Given the description of an element on the screen output the (x, y) to click on. 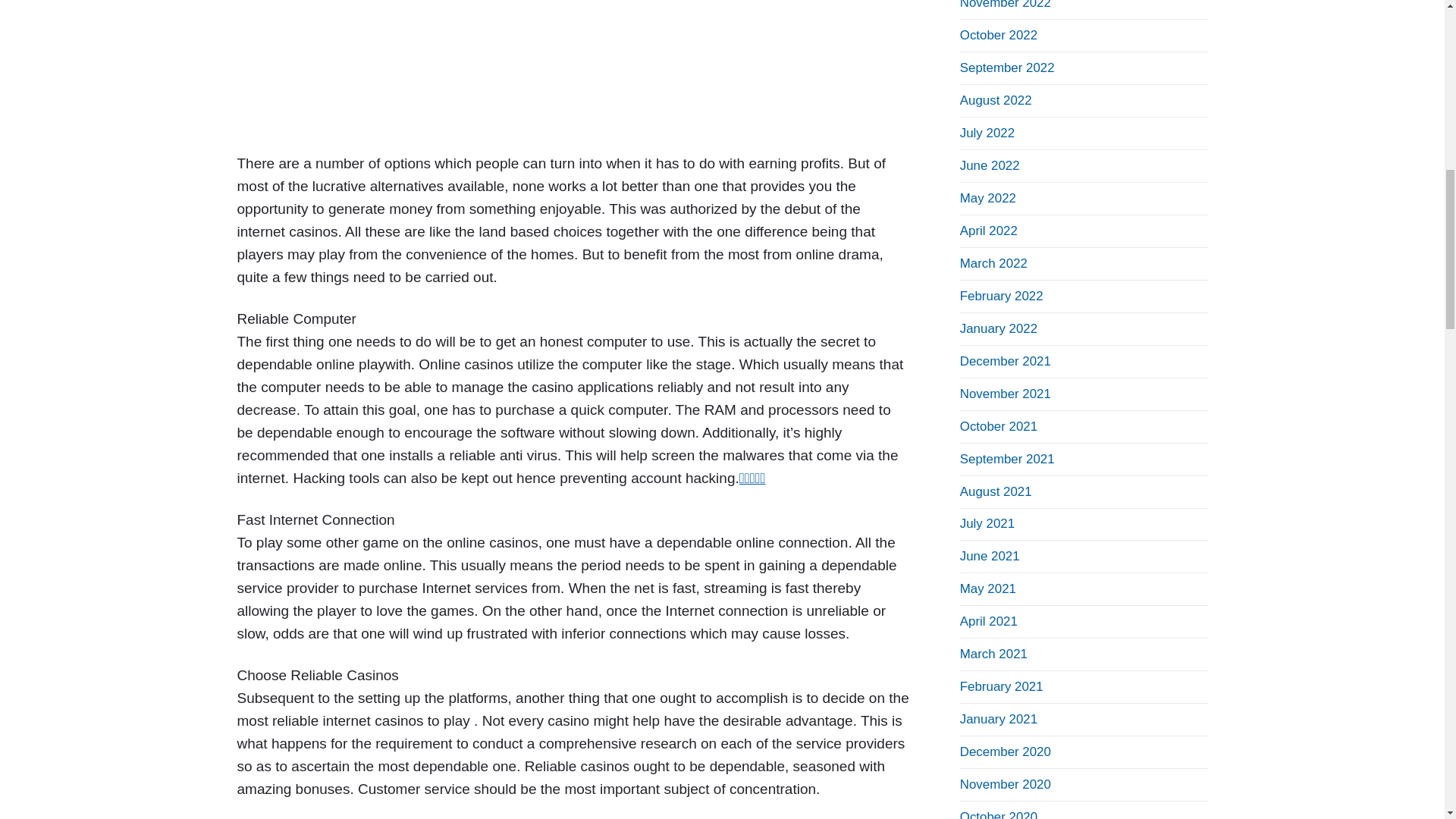
September 2022 (1006, 67)
October 2022 (997, 34)
August 2022 (995, 100)
November 2022 (1005, 4)
June 2022 (989, 165)
July 2022 (986, 133)
